Given the description of an element on the screen output the (x, y) to click on. 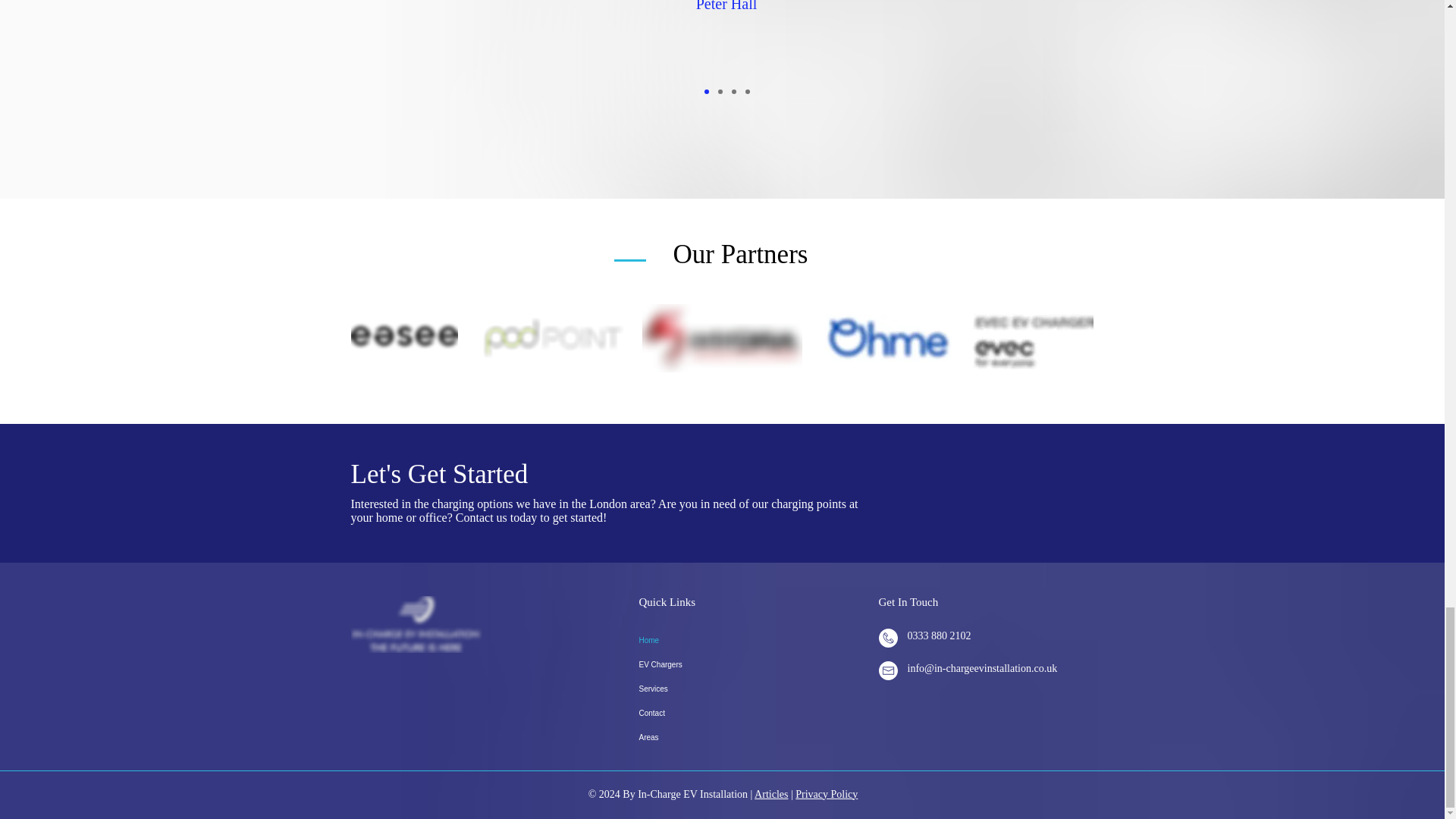
In-Charge Ev Installation Logo (415, 624)
EV Chargers (750, 664)
Peter Hall (726, 6)
Home (750, 640)
